Given the description of an element on the screen output the (x, y) to click on. 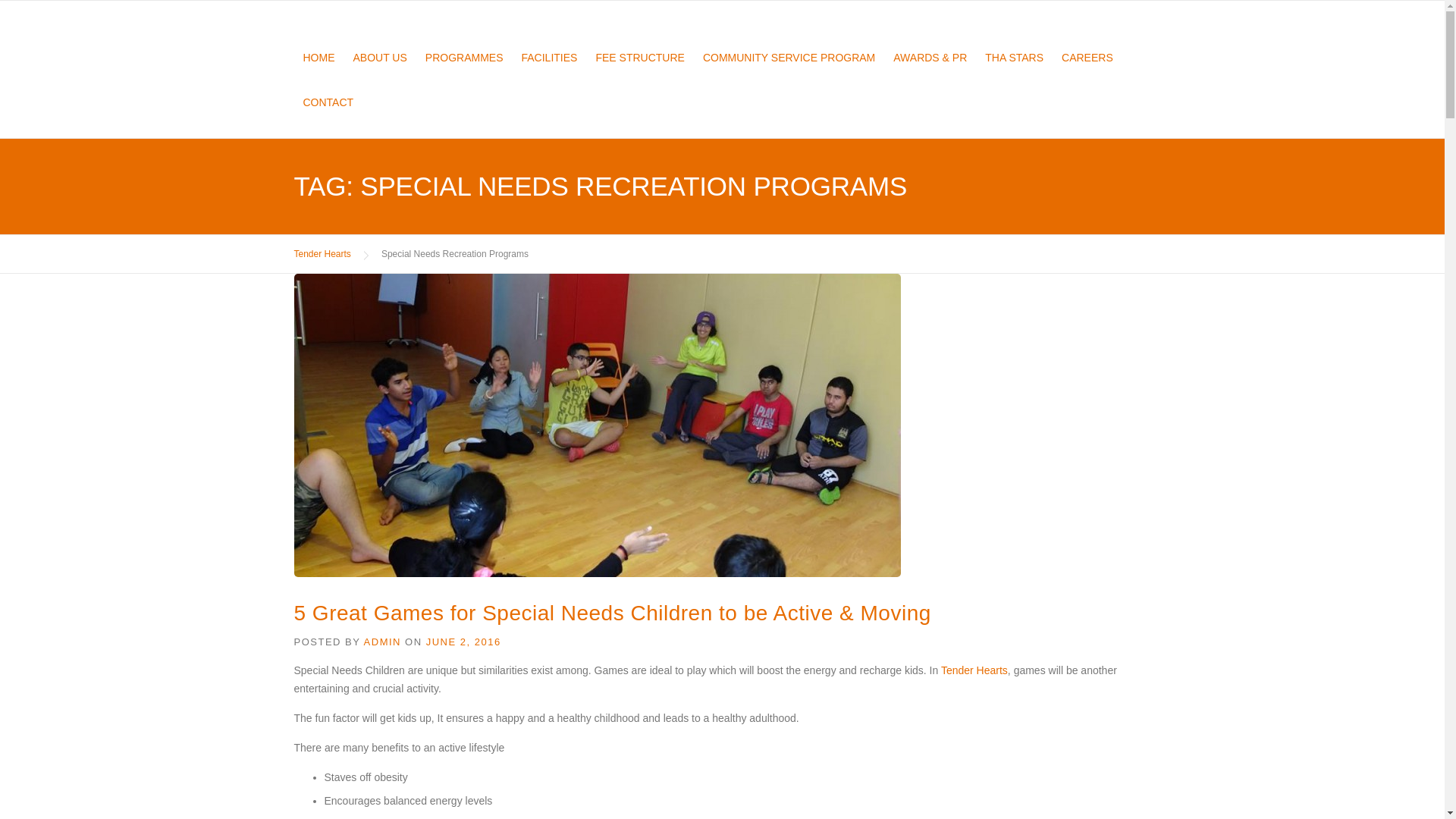
PROGRAMMES (464, 71)
FEE STRUCTURE (639, 71)
Go to Tender Hearts. (322, 253)
Tender Hearts (973, 670)
Tender Hearts (322, 253)
CAREERS (1087, 71)
CONTACT (323, 116)
JUNE 2, 2016 (463, 641)
ABOUT US (379, 71)
FACILITIES (549, 71)
HOME (318, 71)
ADMIN (382, 641)
Skip to content (34, 9)
THA STARS (1013, 71)
COMMUNITY SERVICE PROGRAM (788, 71)
